Given the description of an element on the screen output the (x, y) to click on. 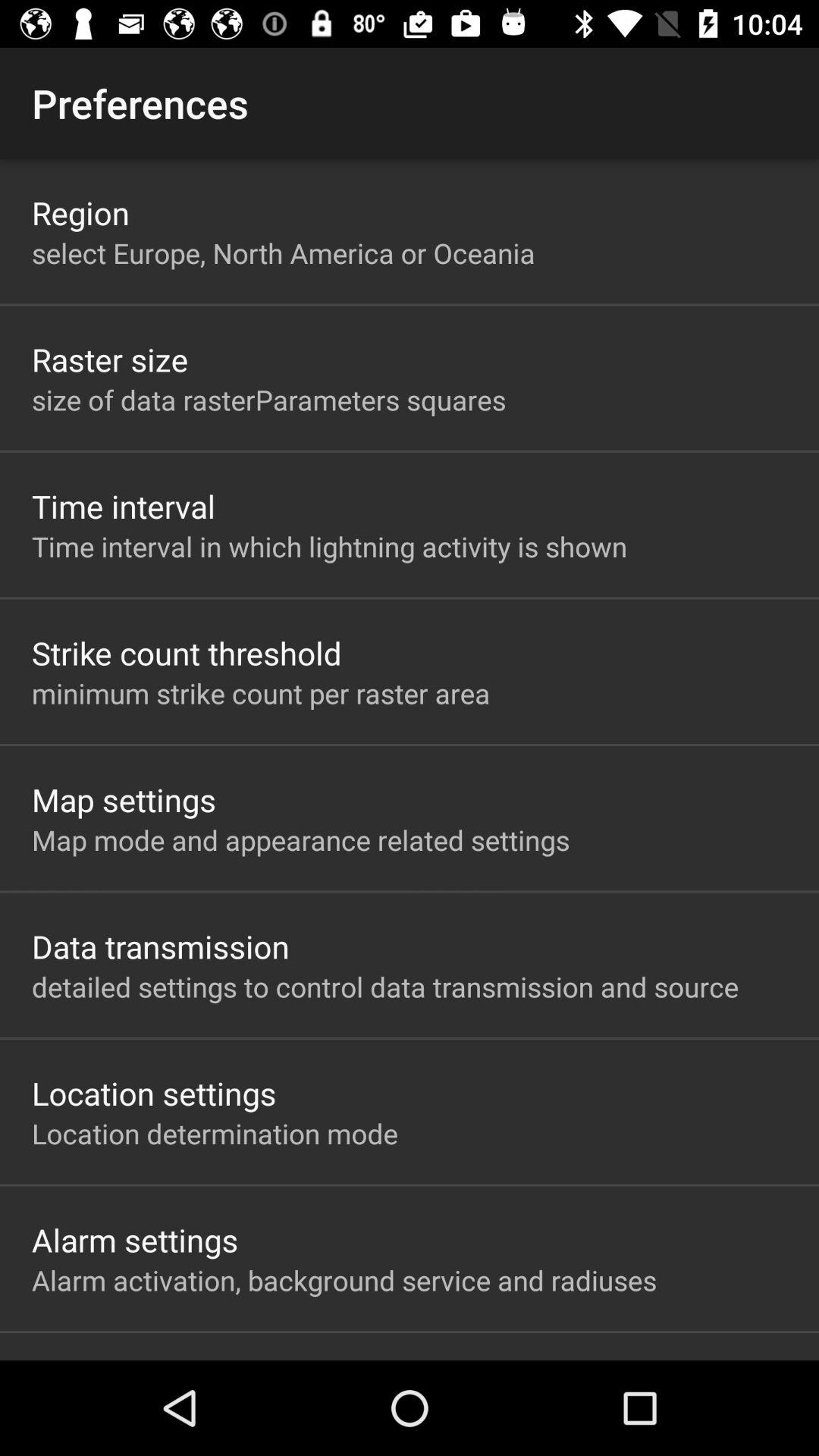
turn off the region app (80, 212)
